Given the description of an element on the screen output the (x, y) to click on. 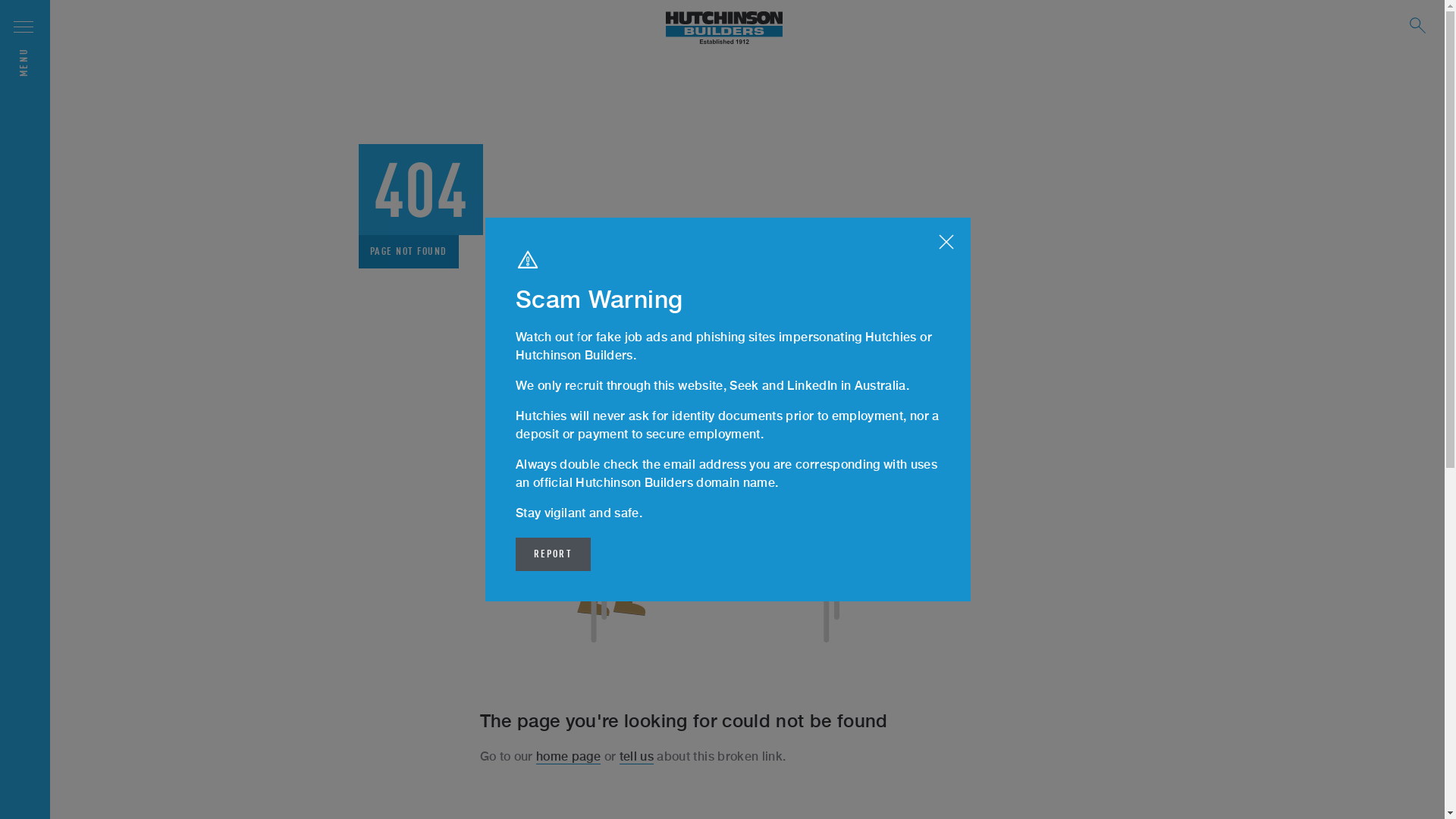
Hutchinson Builders Element type: text (723, 29)
home page Element type: text (568, 756)
tell us Element type: text (636, 756)
REPORT Element type: text (552, 554)
